Given the description of an element on the screen output the (x, y) to click on. 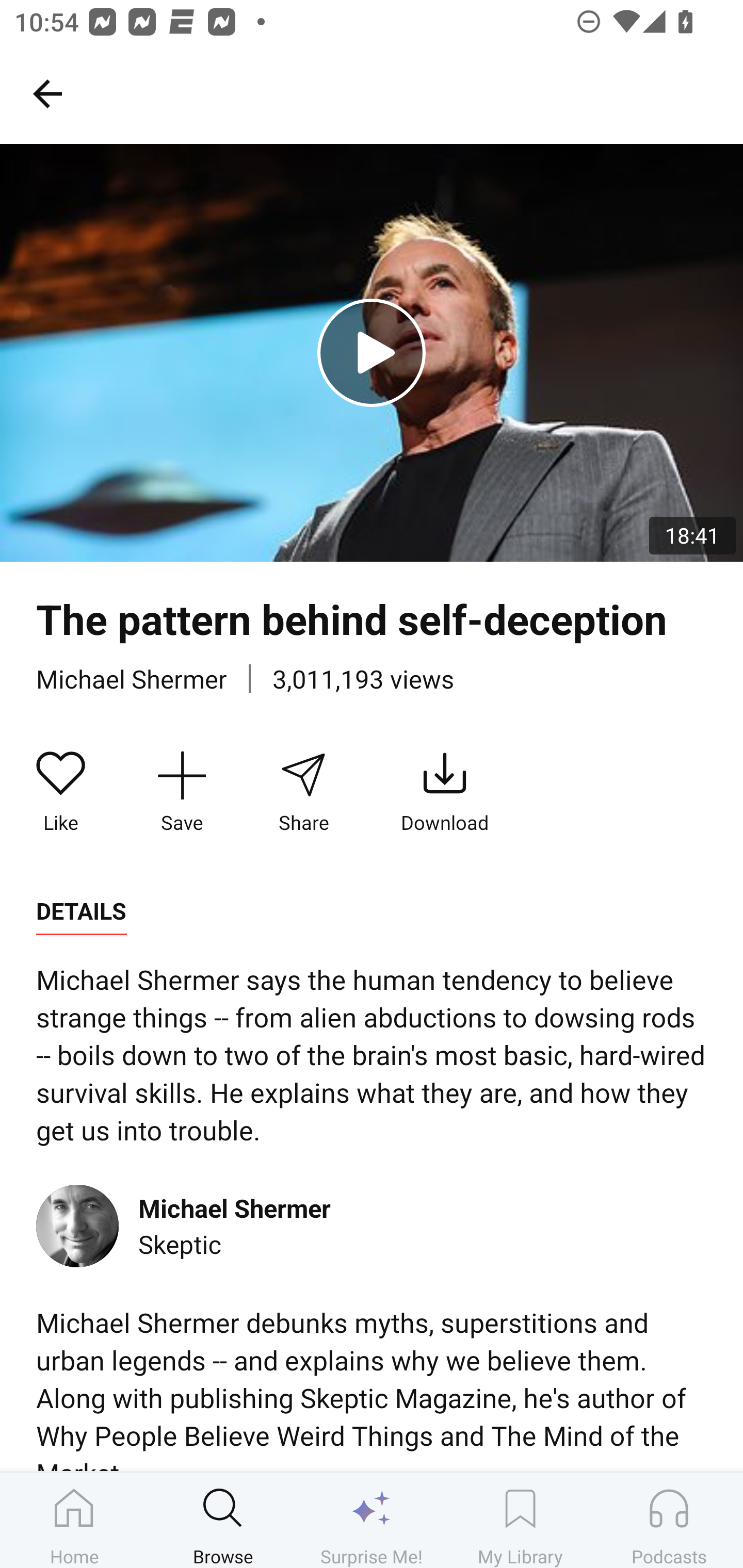
Search, back (47, 92)
Like (60, 793)
Save (181, 793)
Share (302, 793)
Download (444, 793)
DETAILS (80, 911)
Home (74, 1520)
Browse (222, 1520)
Surprise Me! (371, 1520)
My Library (519, 1520)
Podcasts (668, 1520)
